Given the description of an element on the screen output the (x, y) to click on. 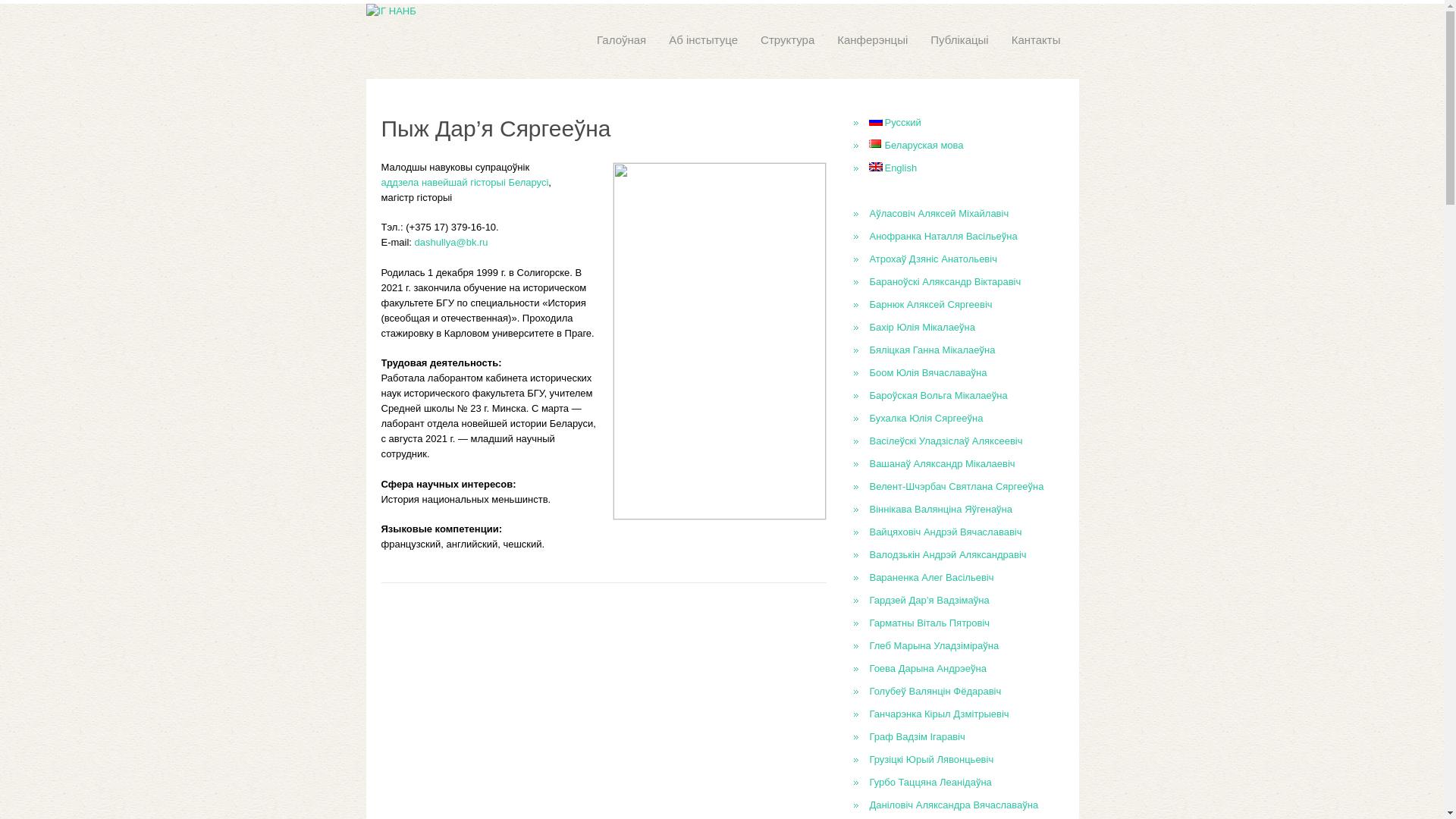
English Element type: text (892, 167)
dashullya@bk.ru Element type: text (451, 241)
